Given the description of an element on the screen output the (x, y) to click on. 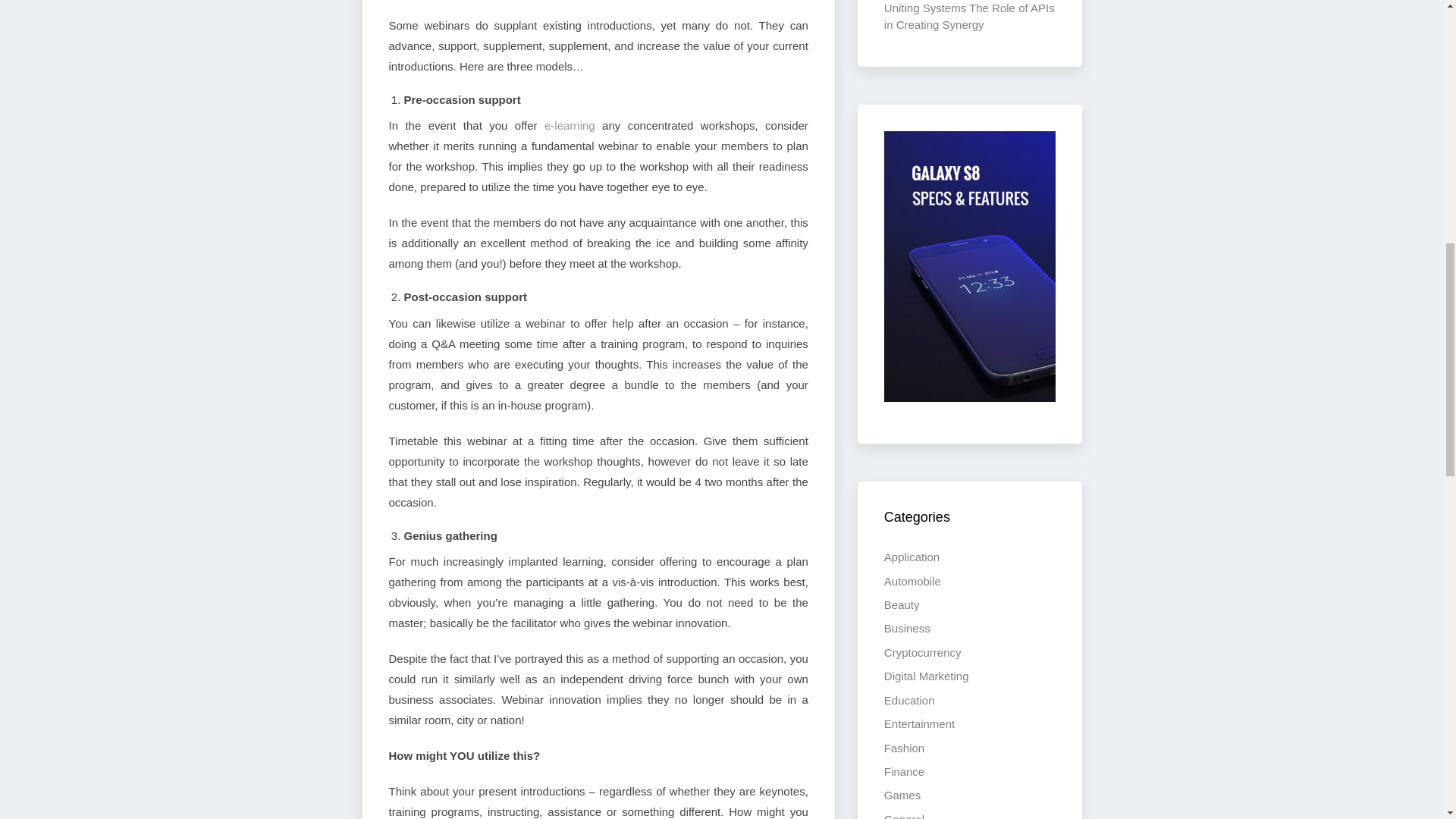
Education (908, 699)
Finance (903, 771)
e-learning (569, 124)
Beauty (901, 604)
Application (911, 556)
Uniting Systems The Role of APIs in Creating Synergy (968, 15)
General (903, 816)
Entertainment (919, 723)
Cryptocurrency (921, 652)
Games (901, 794)
Business (906, 627)
Digital Marketing (926, 675)
Automobile (911, 581)
Fashion (903, 748)
